Given the description of an element on the screen output the (x, y) to click on. 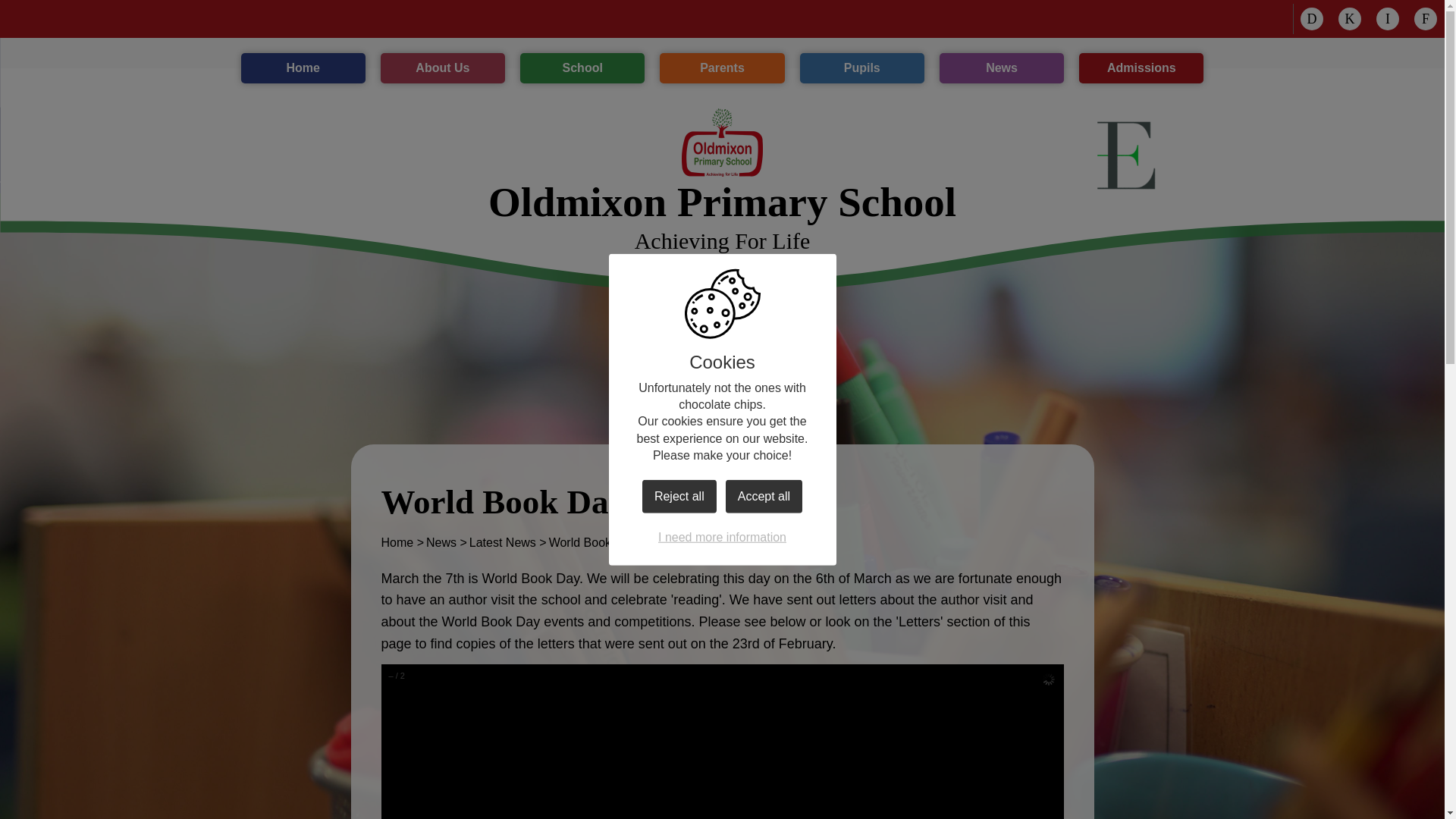
Log in (1425, 18)
Home (303, 68)
About Us (1311, 18)
Home Page (442, 68)
School (721, 142)
